Given the description of an element on the screen output the (x, y) to click on. 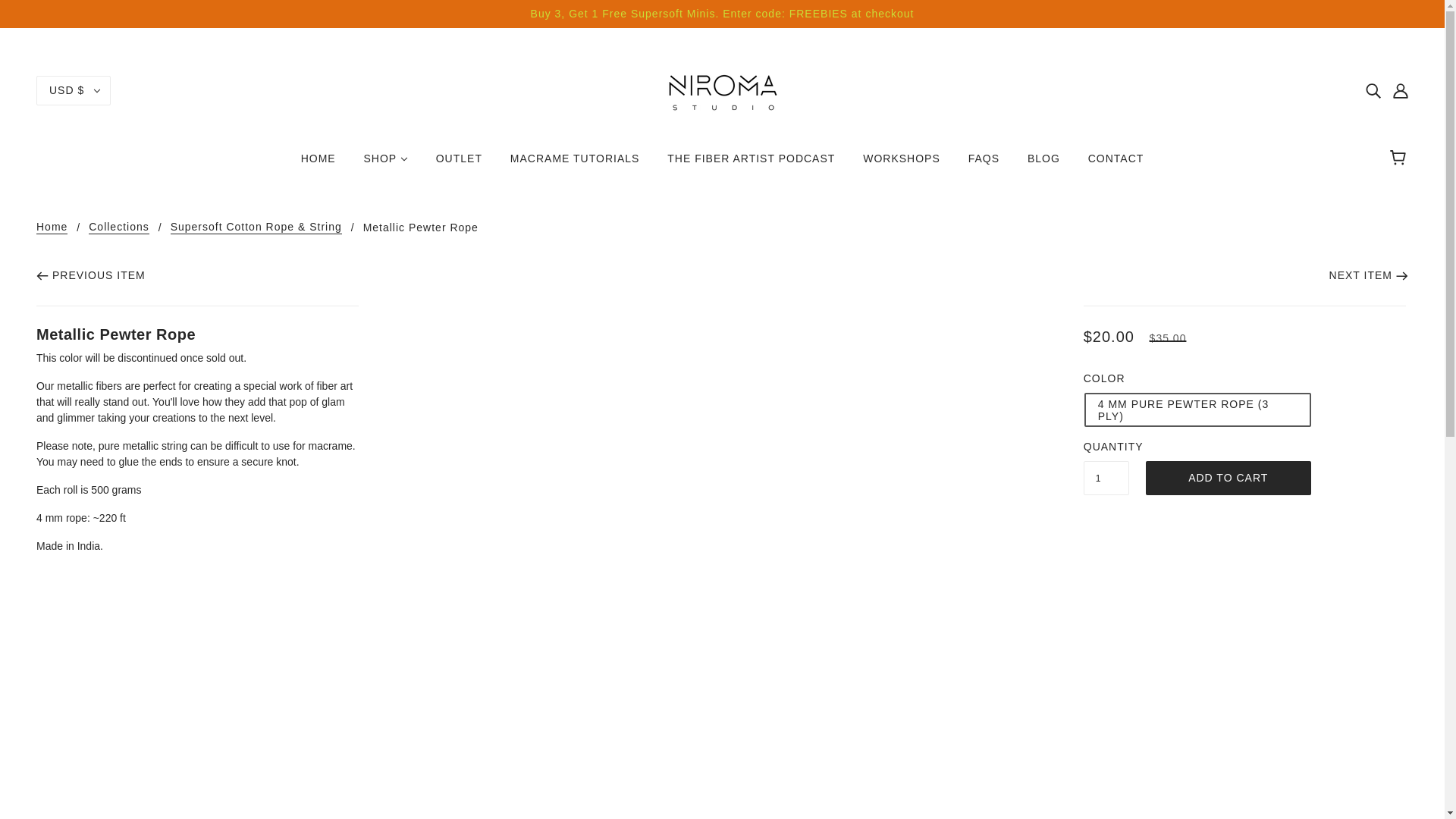
1 (1106, 478)
HOME (317, 164)
SHOP (386, 164)
Niroma Studio (722, 89)
